Given the description of an element on the screen output the (x, y) to click on. 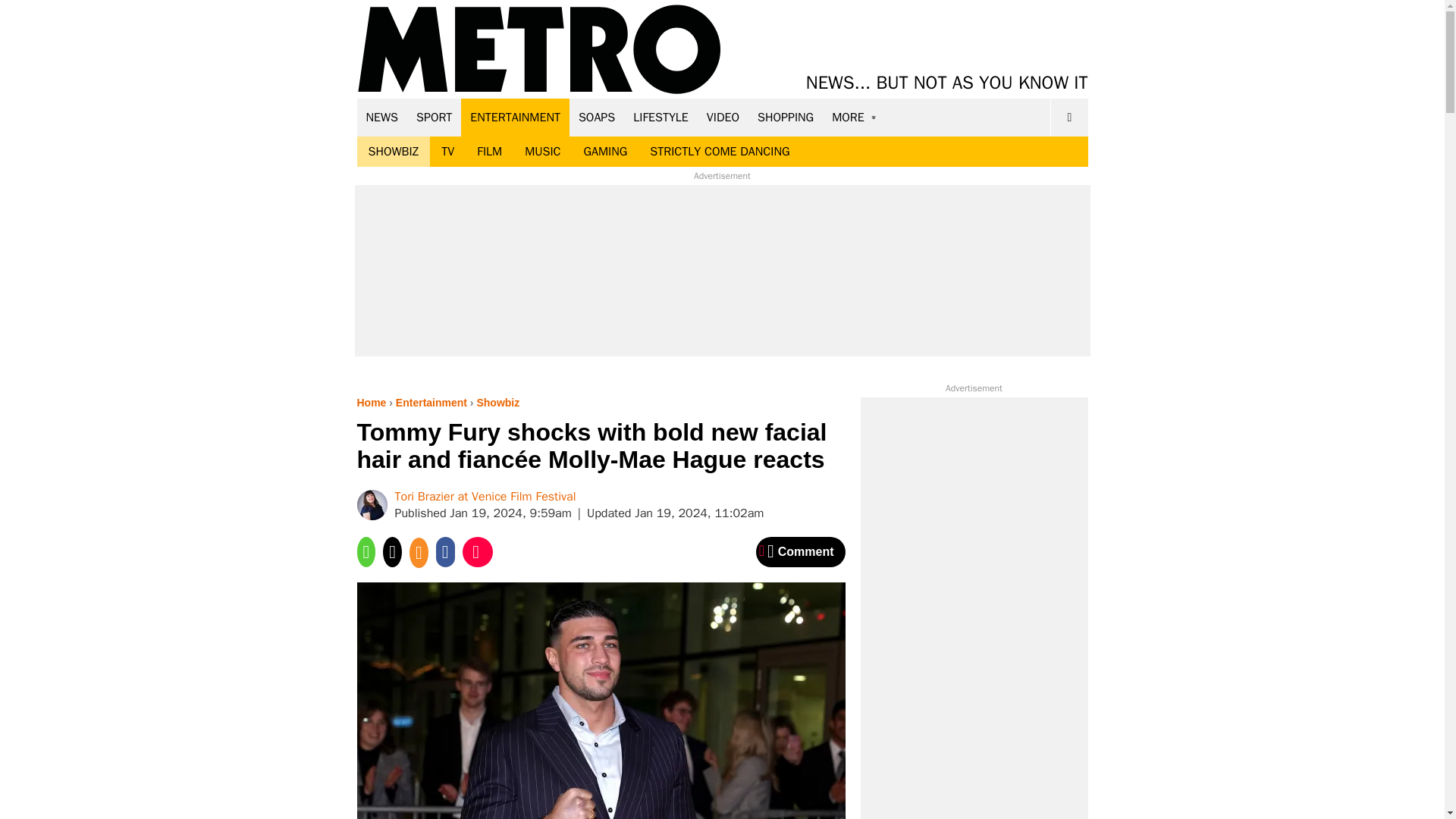
MUSIC (542, 151)
SPORT (434, 117)
STRICTLY COME DANCING (719, 151)
LIFESTYLE (660, 117)
Metro (539, 50)
SOAPS (596, 117)
NEWS (381, 117)
GAMING (605, 151)
FILM (489, 151)
SHOWBIZ (392, 151)
